Given the description of an element on the screen output the (x, y) to click on. 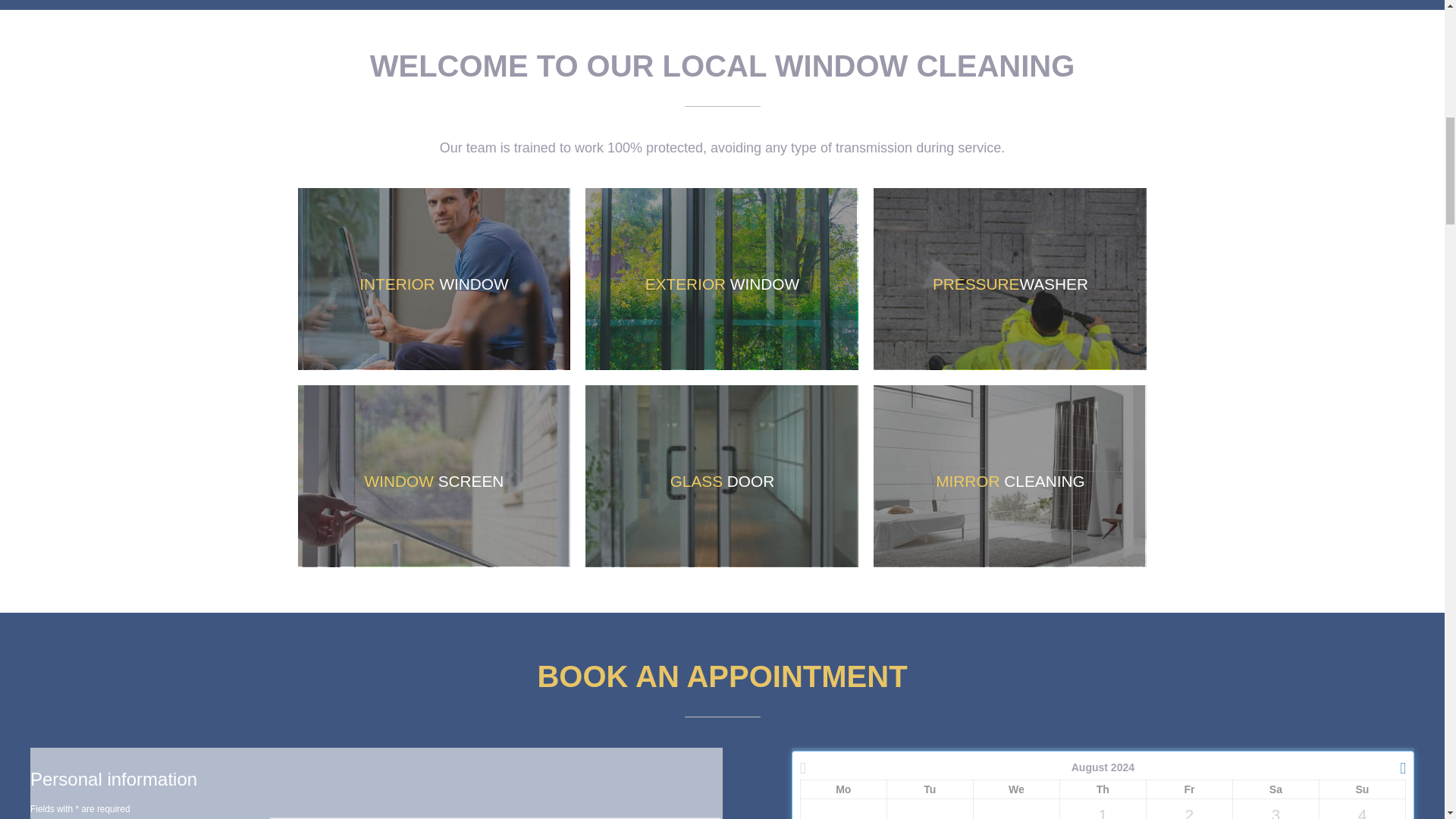
Wednesday (1017, 788)
INTERIOR WINDOW (433, 279)
Thursday (1102, 788)
Next (1394, 767)
Monday (842, 788)
Tuesday (929, 788)
Prev (810, 767)
Saturday (1275, 788)
Sunday (1362, 788)
